Given the description of an element on the screen output the (x, y) to click on. 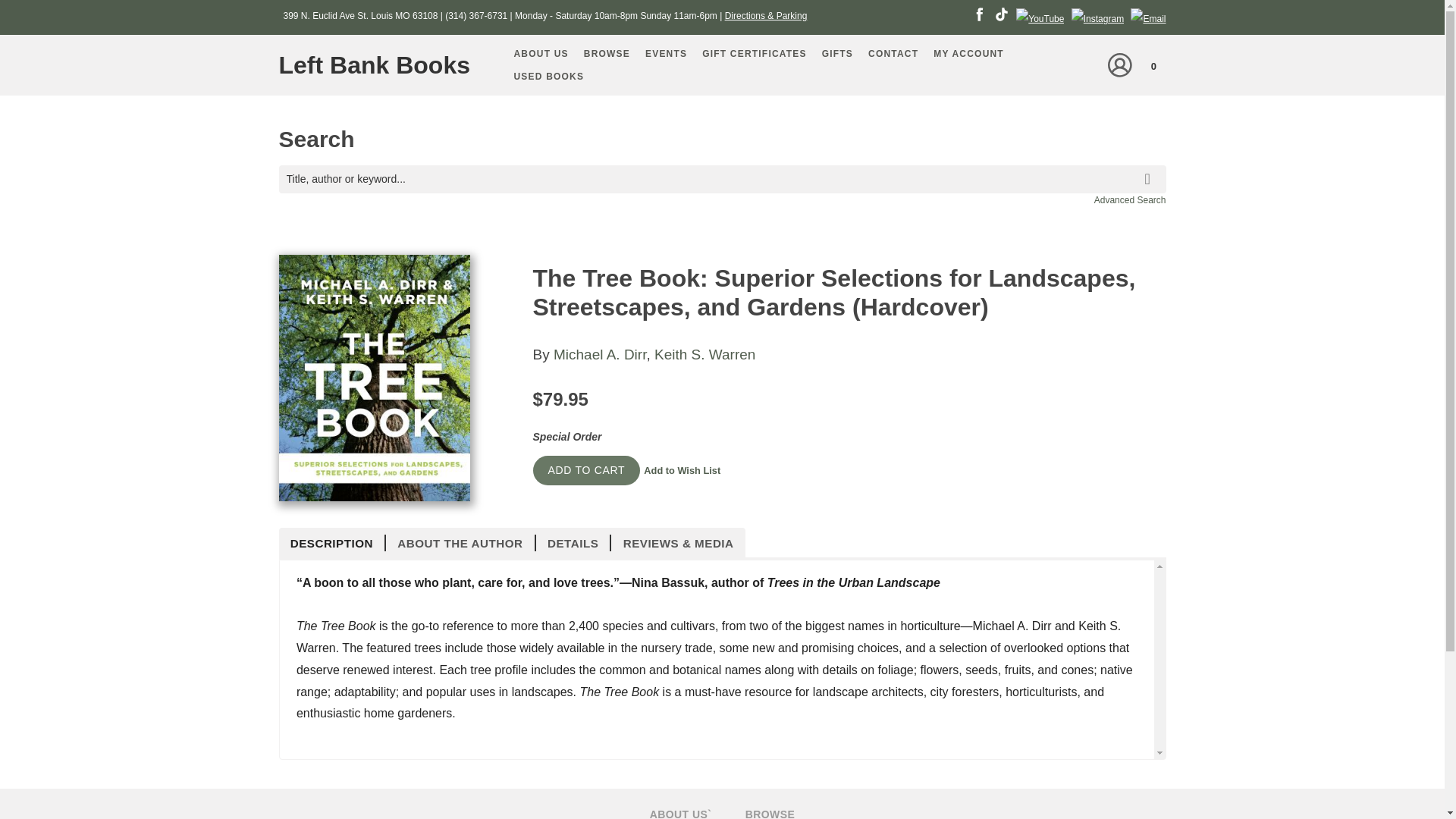
Home (381, 64)
EVENTS (665, 53)
T-Shirts, Gifts and More (836, 53)
GIFTS (836, 53)
Left Bank Books (381, 64)
Add to Cart (586, 470)
BROWSE (606, 53)
GIFT CERTIFICATES (753, 53)
ABOUT US (541, 53)
